Given the description of an element on the screen output the (x, y) to click on. 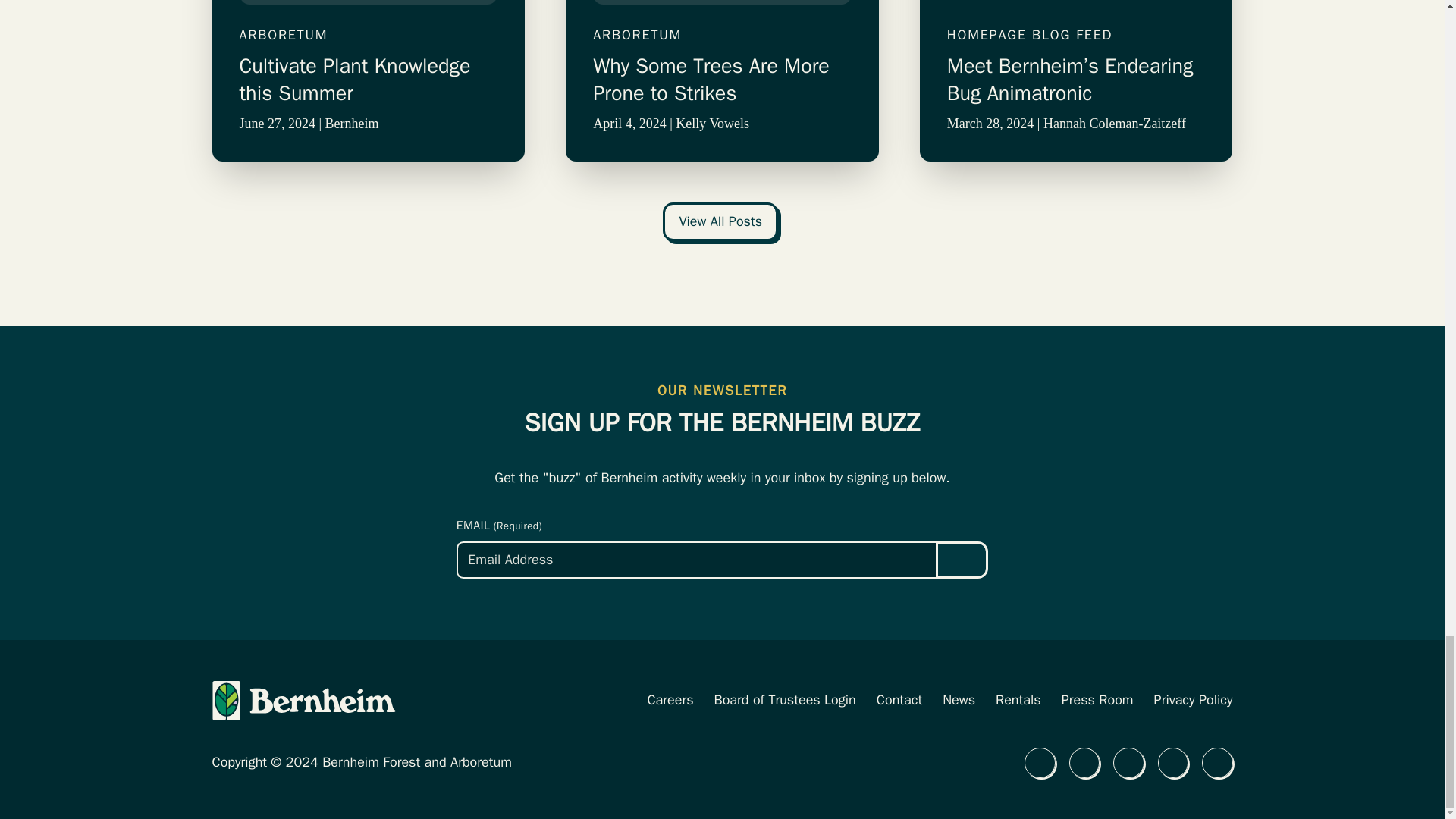
ARBORETUM (368, 35)
ARBORETUM (721, 35)
Why Some Trees Are More Prone to Strikes (721, 79)
Cultivate Plant Knowledge this Summer (368, 79)
Bernheim (351, 123)
